Given the description of an element on the screen output the (x, y) to click on. 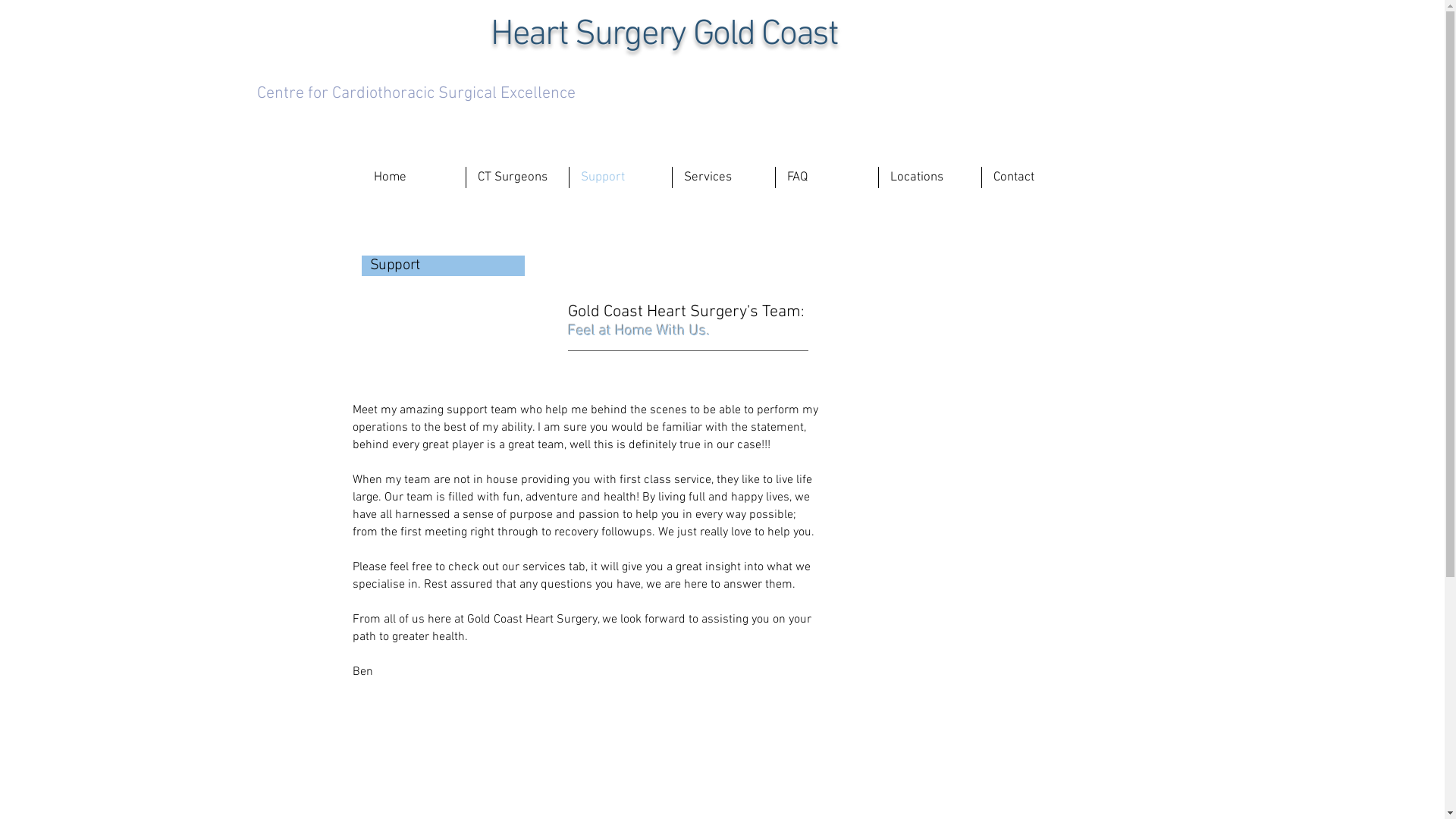
FAQ Element type: text (826, 177)
Support Element type: text (619, 177)
Home Element type: text (413, 177)
Contact Element type: text (1031, 177)
